Given the description of an element on the screen output the (x, y) to click on. 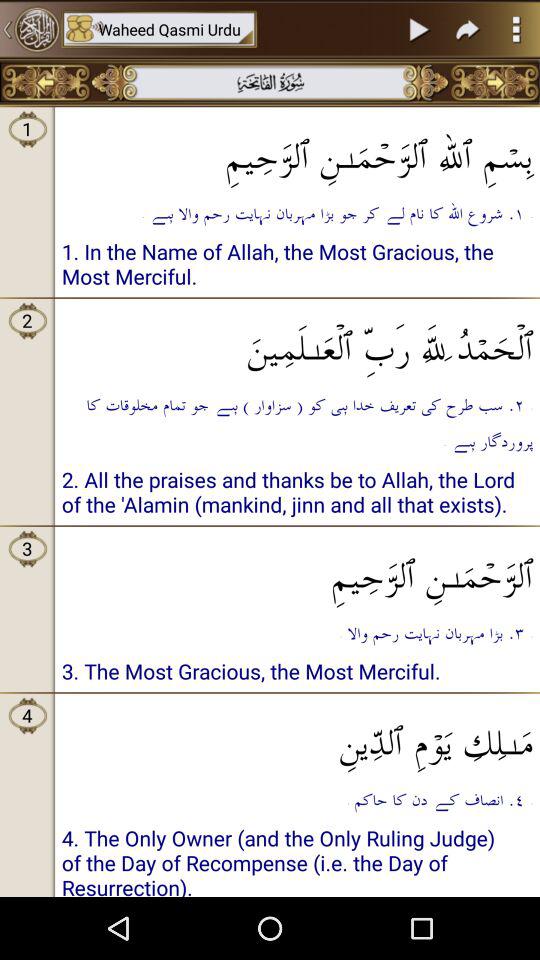
open the icon below 1 in the item (297, 341)
